Given the description of an element on the screen output the (x, y) to click on. 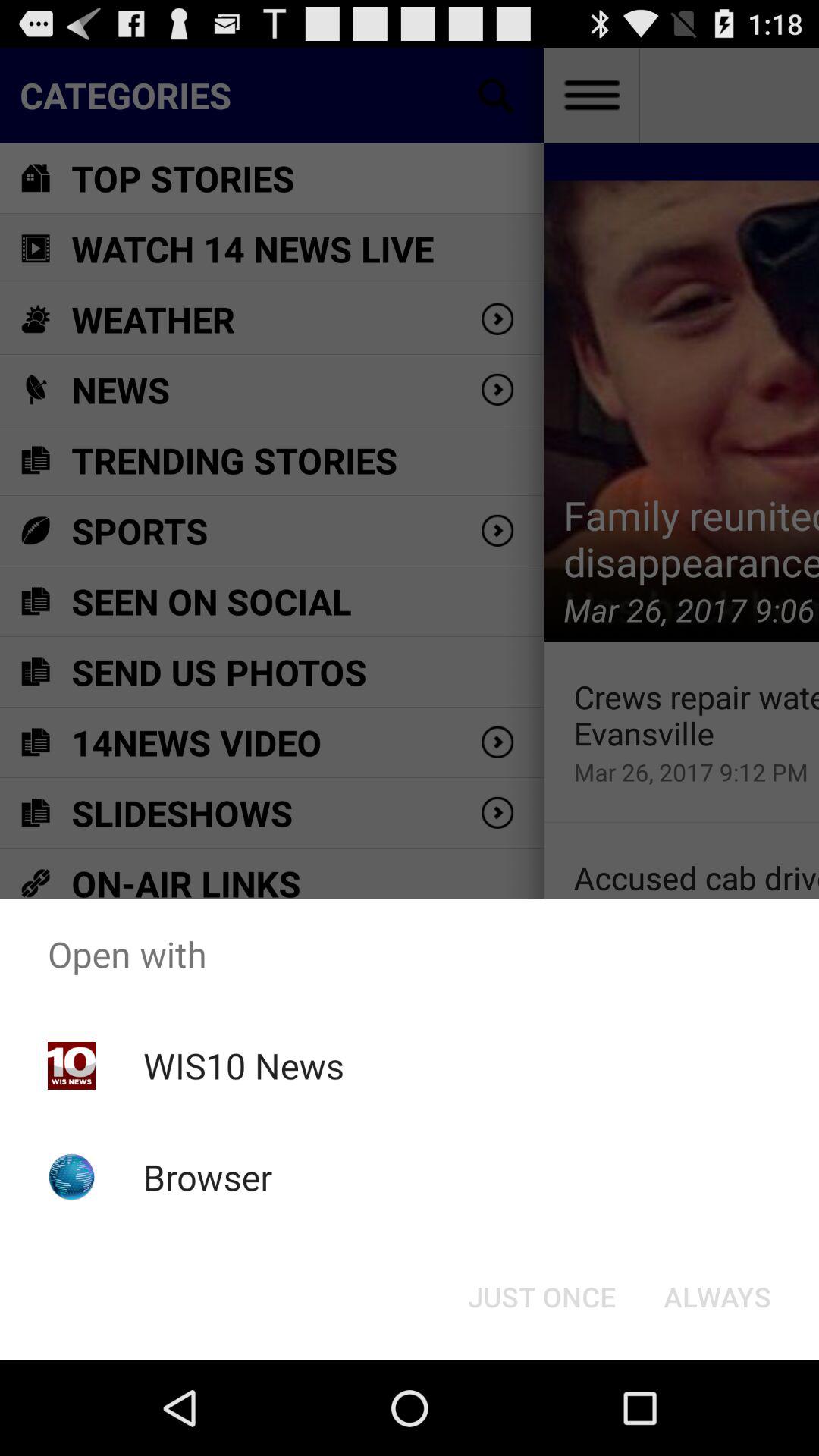
flip until wis10 news icon (243, 1065)
